Given the description of an element on the screen output the (x, y) to click on. 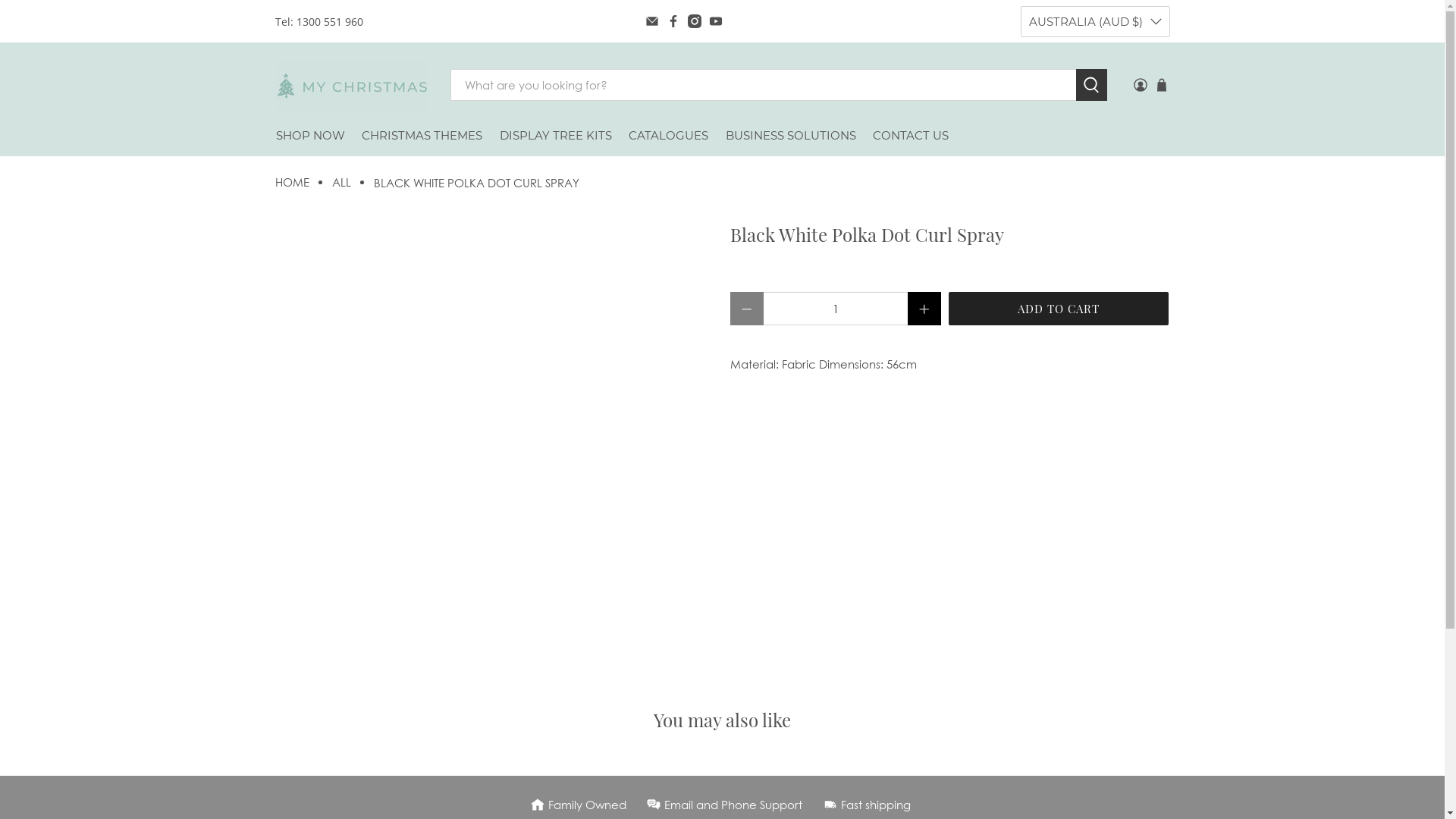
AU Element type: text (1094, 57)
Email My Christmas Element type: hover (651, 21)
NZ Element type: text (1094, 94)
ADD TO CART Element type: text (1057, 308)
My Christmas Element type: hover (351, 84)
DISPLAY TREE KITS Element type: text (556, 136)
HOME Element type: text (291, 182)
CONTACT US Element type: text (910, 136)
My Christmas on Facebook Element type: hover (673, 21)
BUSINESS SOLUTIONS Element type: text (791, 136)
CATALOGUES Element type: text (668, 136)
ALL Element type: text (341, 182)
SHOP NOW Element type: text (309, 136)
AUSTRALIA (AUD $) Element type: text (1095, 21)
CHRISTMAS THEMES Element type: text (422, 136)
My Christmas on YouTube Element type: hover (715, 21)
My Christmas on Instagram Element type: hover (694, 21)
